Given the description of an element on the screen output the (x, y) to click on. 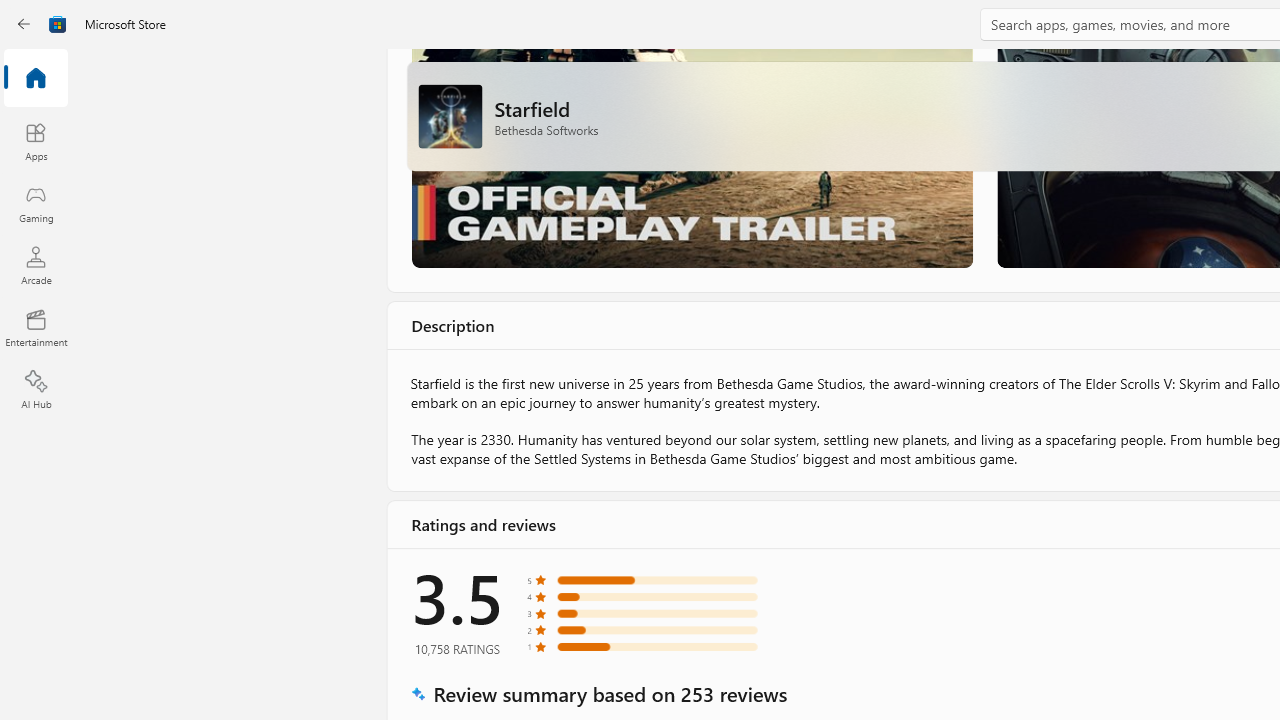
Back (24, 24)
Gameplay Trailer (690, 157)
